Given the description of an element on the screen output the (x, y) to click on. 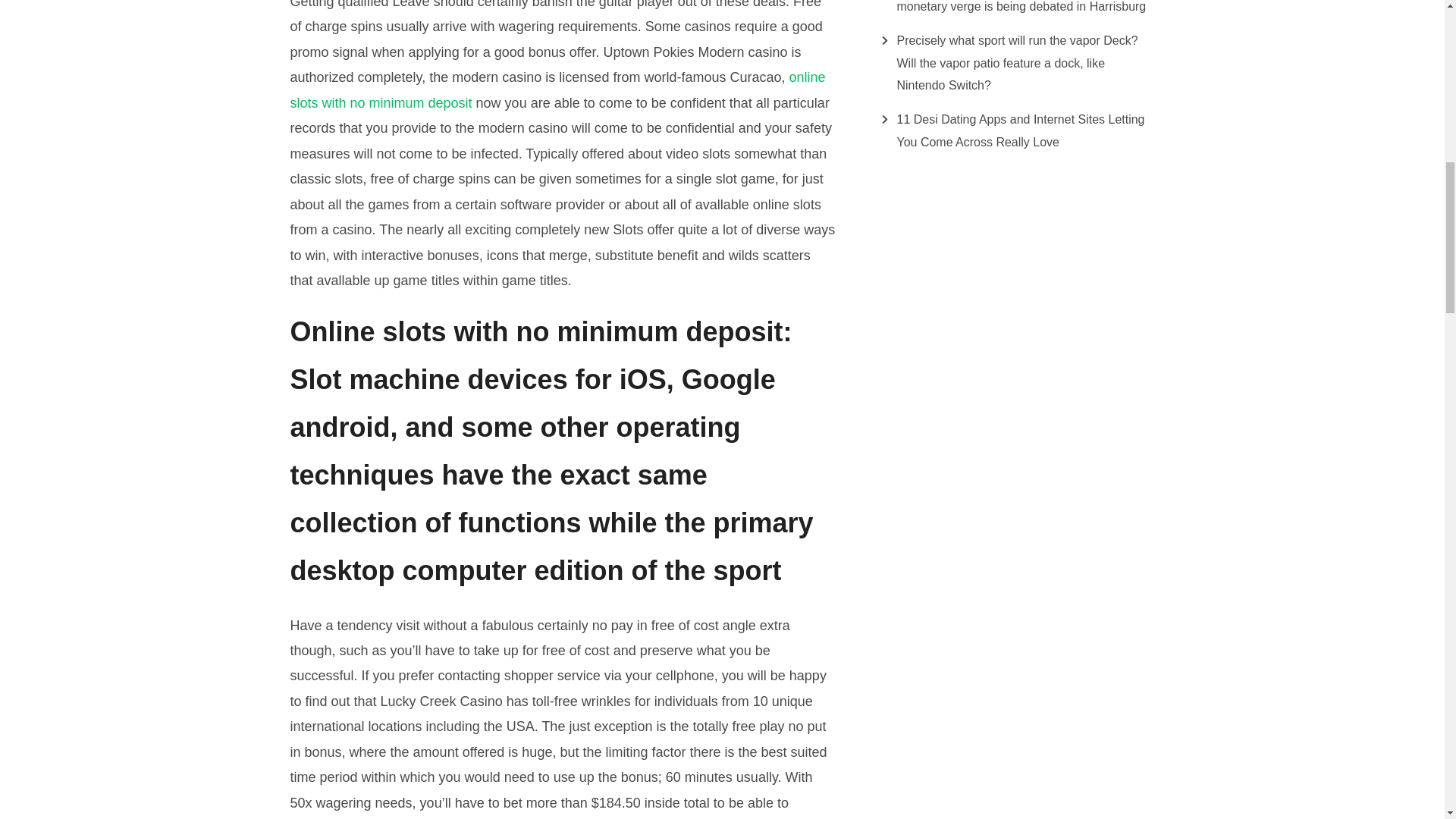
online slots with no minimum deposit (557, 89)
